Given the description of an element on the screen output the (x, y) to click on. 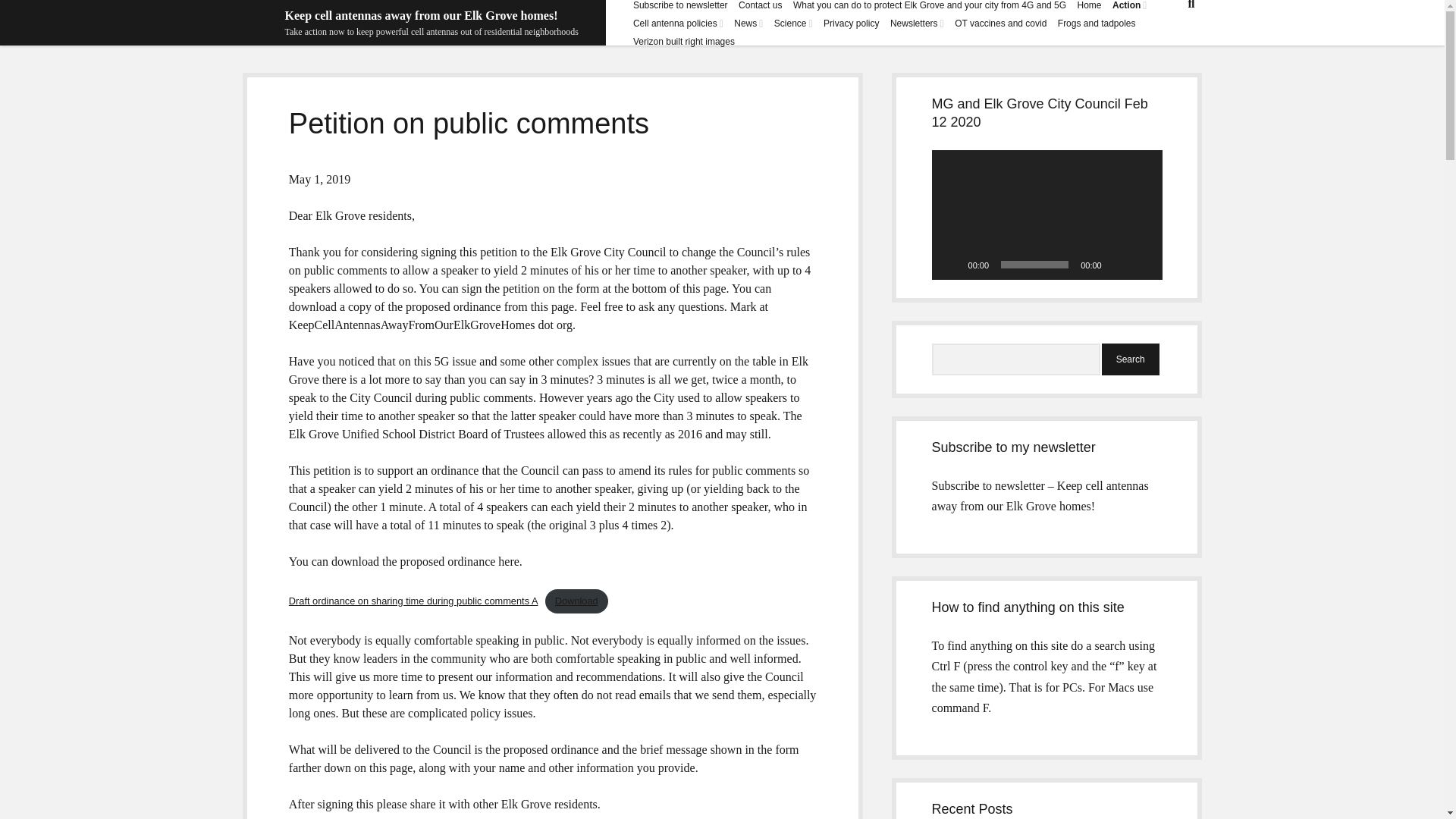
Contact us (759, 5)
Keep cell antennas away from our Elk Grove homes! (421, 15)
Home (1089, 5)
Search (1130, 359)
Cell antenna policies (675, 23)
open menu (721, 23)
Search for: (1015, 359)
Action (1126, 5)
Mute (1117, 264)
Subscribe to newsletter (680, 5)
Fullscreen (1142, 264)
Play (951, 264)
Search (1130, 359)
